Given the description of an element on the screen output the (x, y) to click on. 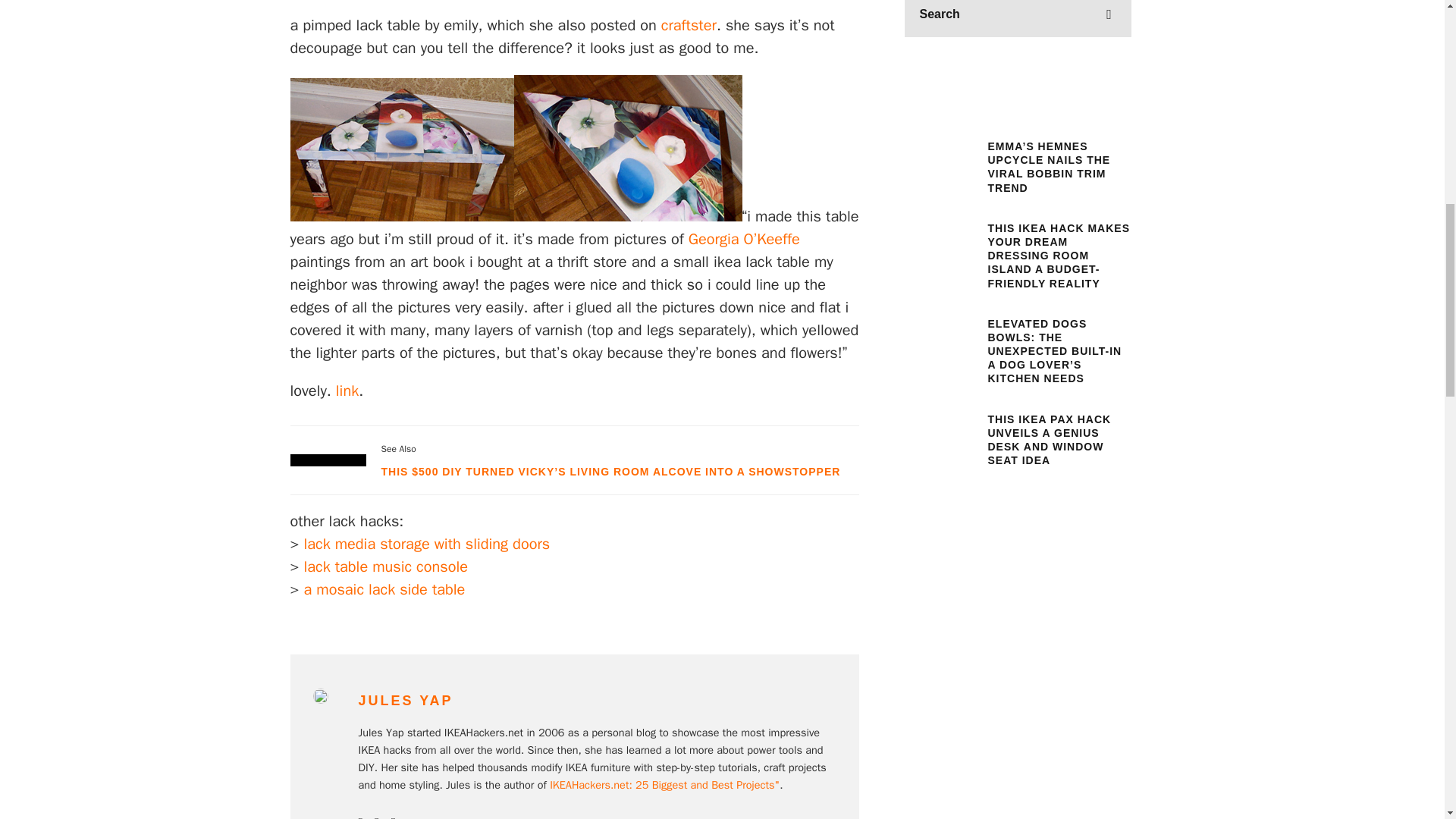
wrap your side table in lovely o'keeffe 4 (401, 149)
wrap your side table in lovely o'keeffe 5 (627, 148)
wrap your side table in lovely o'keeffe 1 (721, 6)
craftster (688, 25)
link (347, 390)
